Given the description of an element on the screen output the (x, y) to click on. 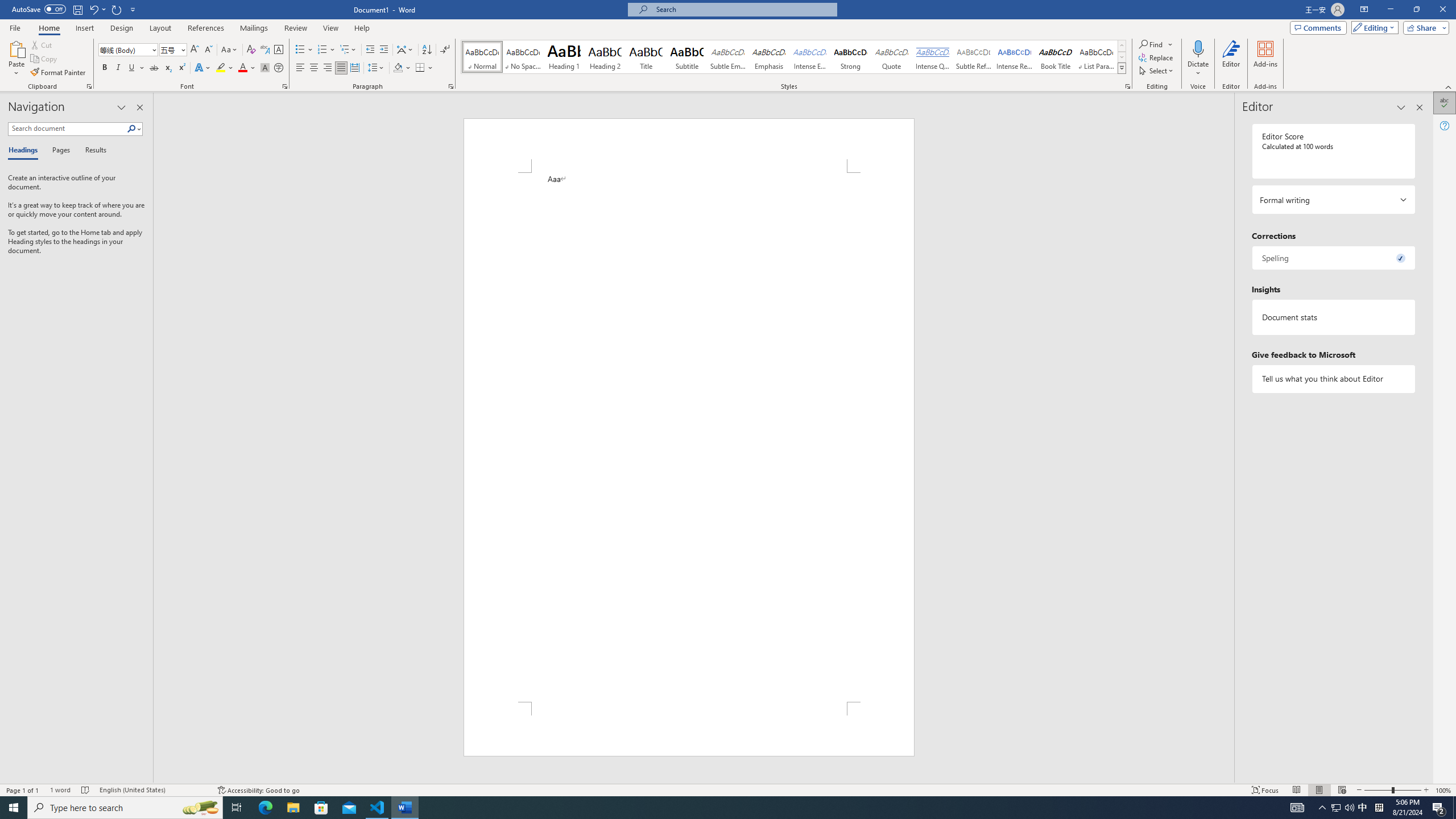
Intense Emphasis (809, 56)
Character Shading (264, 67)
Align Right (327, 67)
Change Case (229, 49)
Undo Increase Indent (96, 9)
Line and Paragraph Spacing (376, 67)
Title (646, 56)
AutomationID: QuickStylesGallery (794, 56)
